Given the description of an element on the screen output the (x, y) to click on. 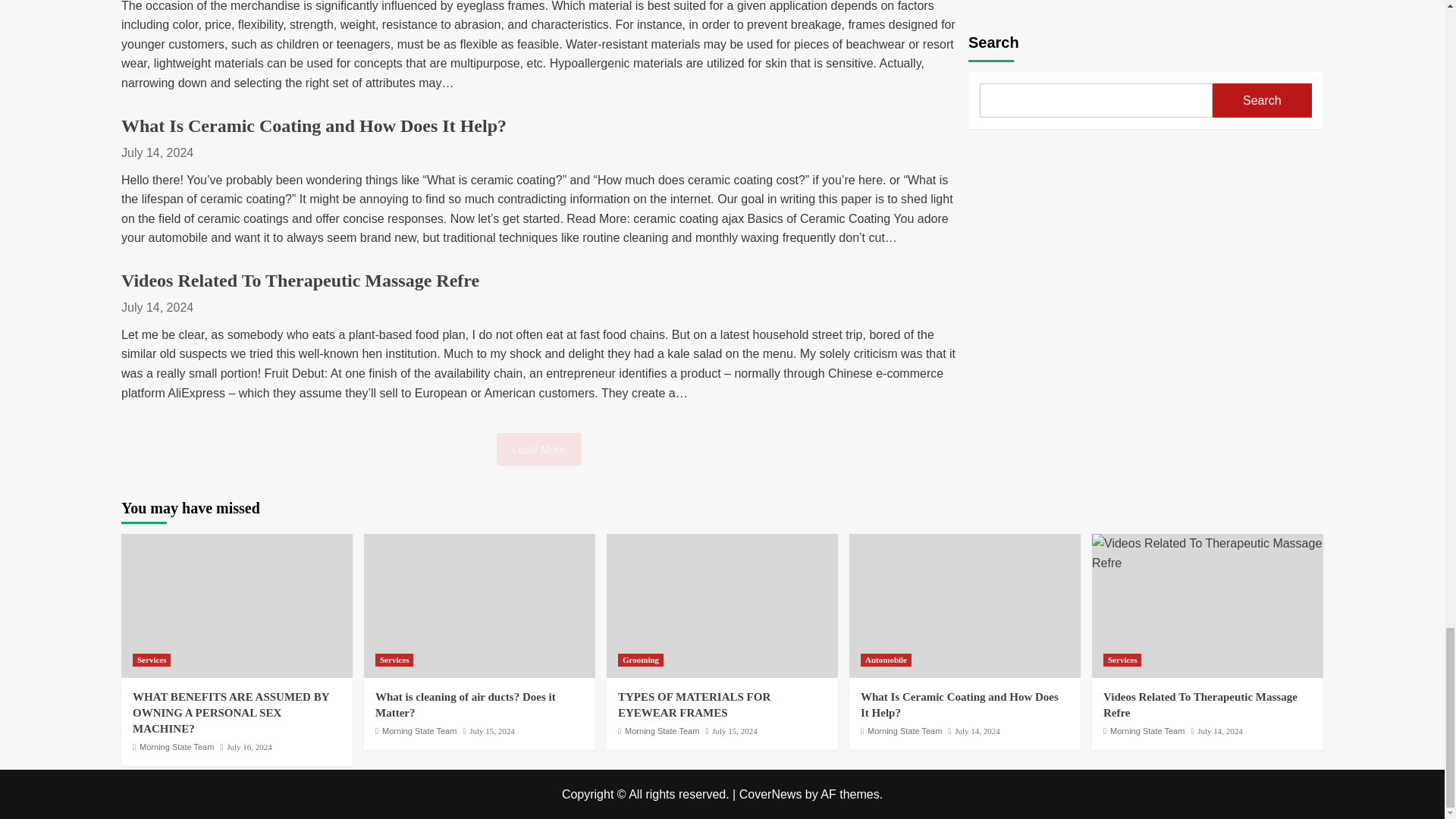
Videos Related To Therapeutic Massage Refre (299, 280)
Load More (538, 449)
What Is Ceramic Coating and How Does It Help? (313, 125)
